Given the description of an element on the screen output the (x, y) to click on. 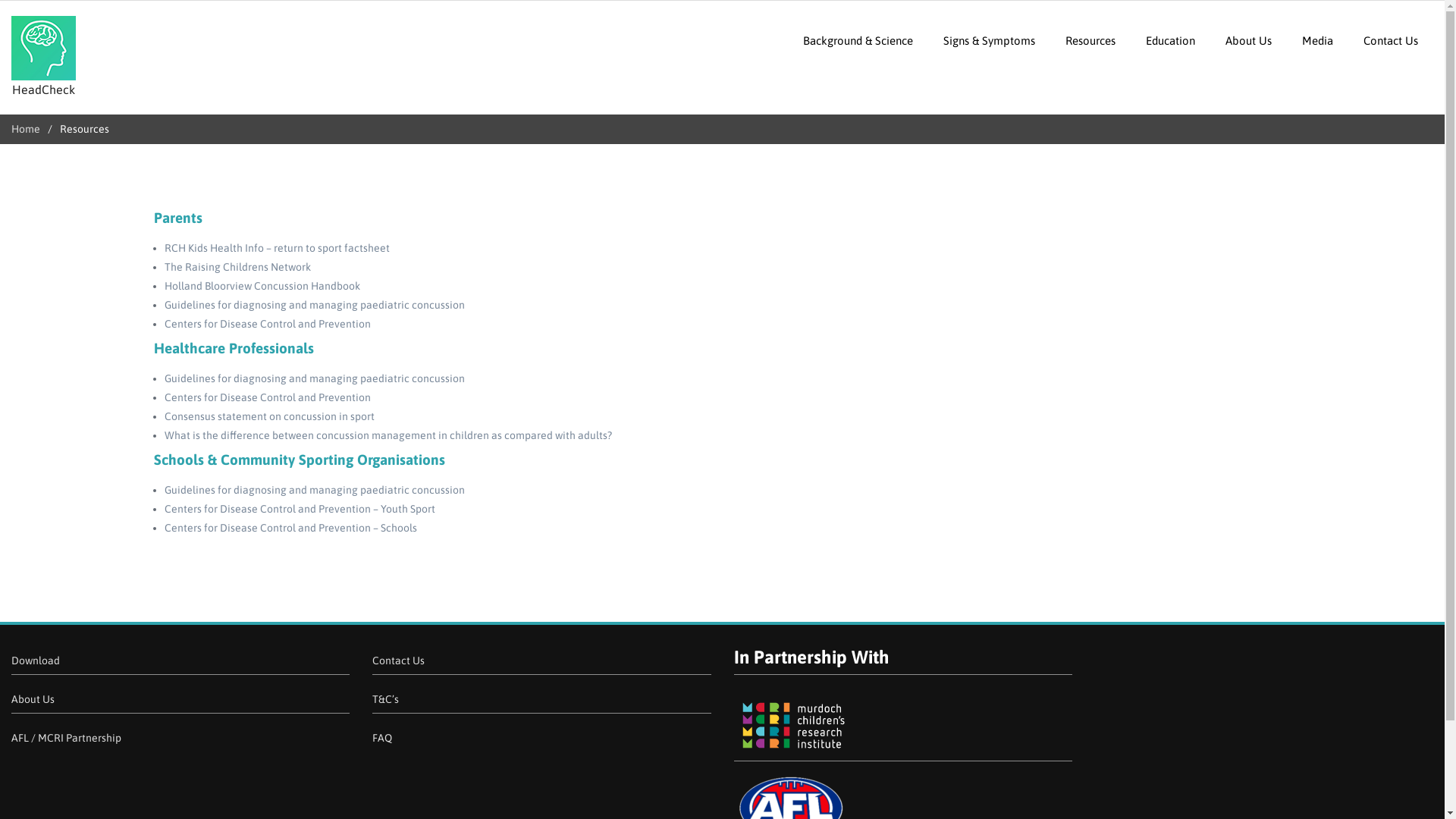
Download Element type: text (35, 660)
Signs & Symptoms Element type: text (989, 40)
Contact Us Element type: text (1390, 40)
Background & Science Element type: text (857, 40)
About Us Element type: text (1248, 40)
The Raising Childrens Network Element type: text (236, 266)
About Us Element type: text (32, 699)
Home Element type: text (25, 128)
FAQ Element type: text (382, 737)
Guidelines for diagnosing and managing paediatric concussion Element type: text (313, 304)
Centers for Disease Control and Prevention Element type: text (266, 397)
Holland Bloorview Concussion Handbook Element type: text (261, 285)
Guidelines for diagnosing and managing paediatric concussion Element type: text (313, 489)
AFL / MCRI Partnership Element type: text (66, 737)
Media Element type: text (1317, 40)
Contact Us Element type: text (398, 660)
Centers for Disease Control and Prevention Element type: text (266, 323)
Consensus statement on concussion in sport Element type: text (268, 416)
Guidelines for diagnosing and managing paediatric concussion Element type: text (313, 378)
Education Element type: text (1170, 40)
Resources Element type: text (1090, 40)
